Given the description of an element on the screen output the (x, y) to click on. 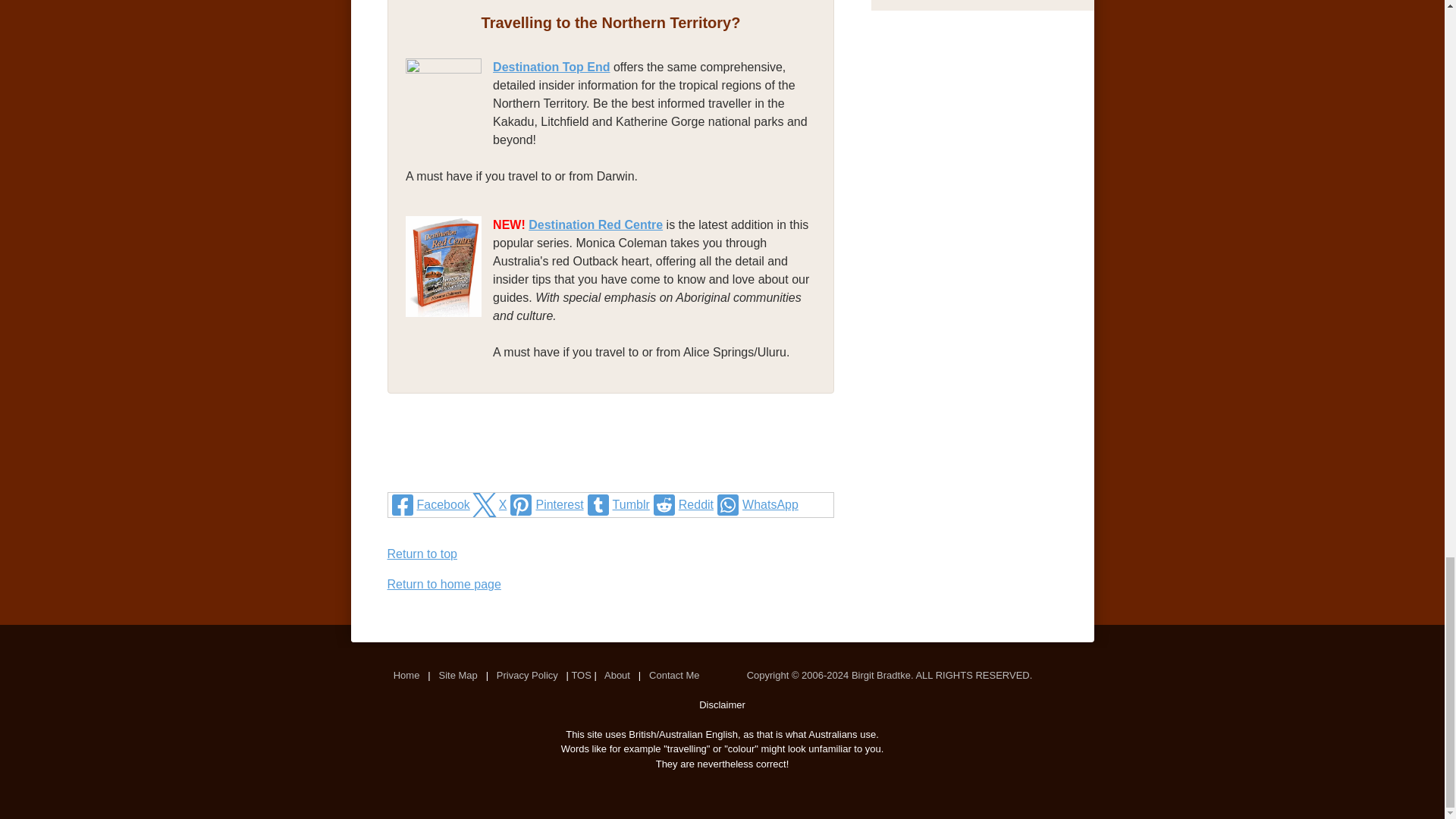
Go to NT Travel Guide: Destination Red Centre (449, 336)
